Given the description of an element on the screen output the (x, y) to click on. 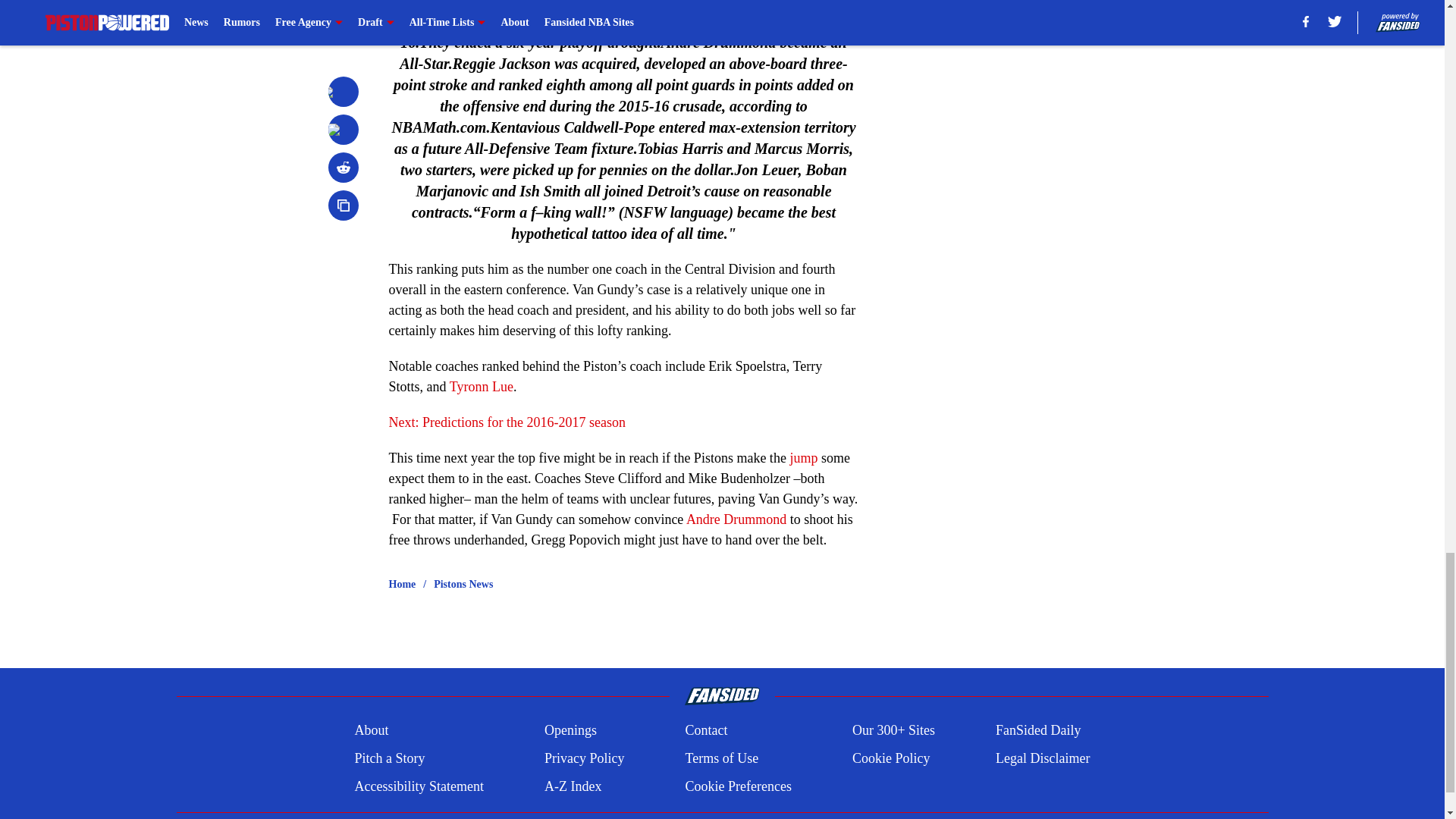
jump (802, 458)
Next: Predictions for the 2016-2017 season (506, 421)
Tyronn Lue (481, 386)
